Given the description of an element on the screen output the (x, y) to click on. 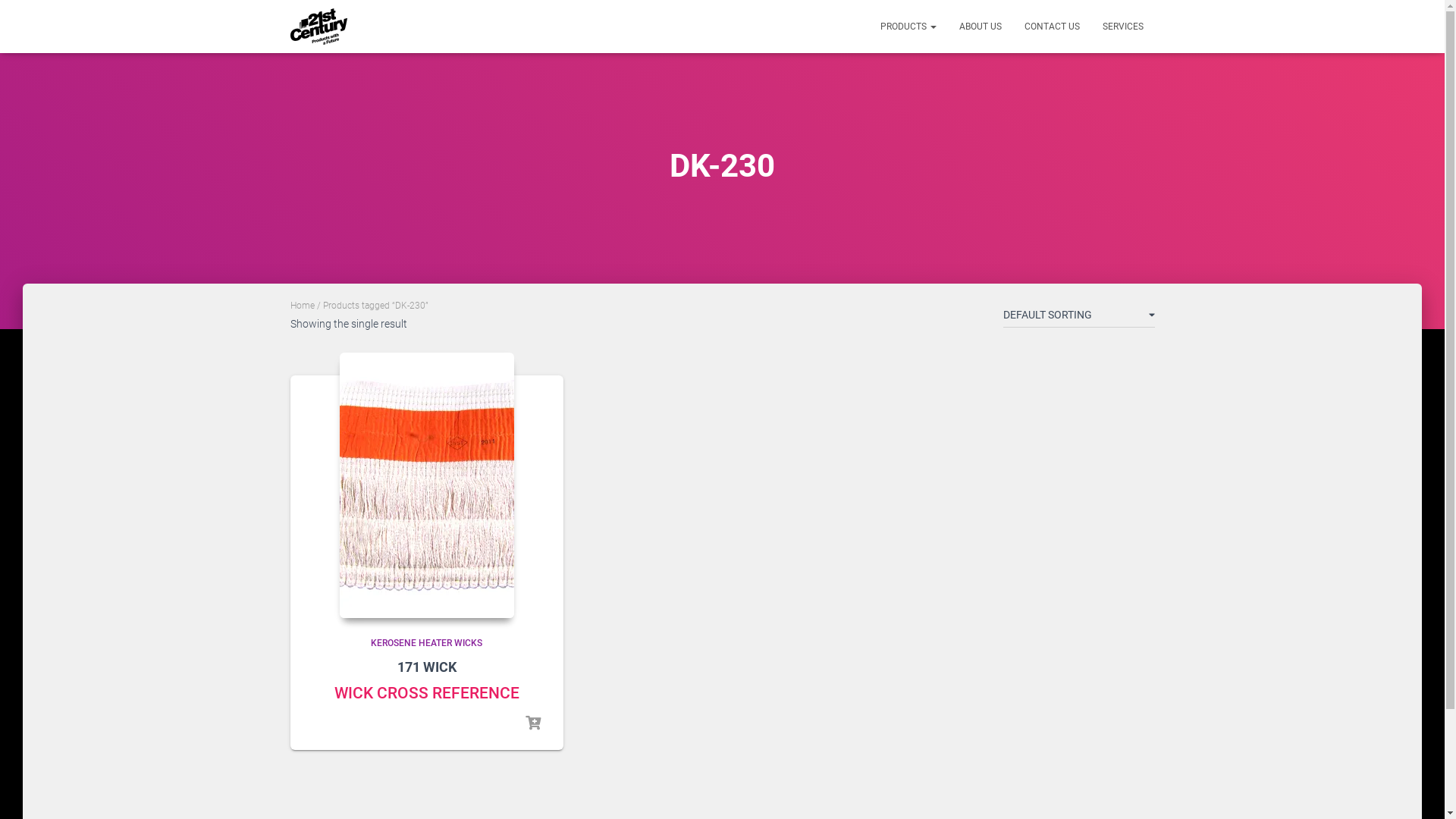
ABOUT US Element type: text (980, 26)
CONTACT US Element type: text (1052, 26)
KEROSENE HEATER WICKS Element type: text (426, 642)
Home Element type: text (301, 305)
WICK CROSS REFERENCE Element type: text (425, 693)
Read more Element type: hover (531, 723)
171 WICK Element type: text (426, 666)
171 WICK Element type: hover (426, 485)
PRODUCTS Element type: text (908, 26)
SERVICES Element type: text (1122, 26)
21st Century Inc Element type: hover (318, 26)
